Given the description of an element on the screen output the (x, y) to click on. 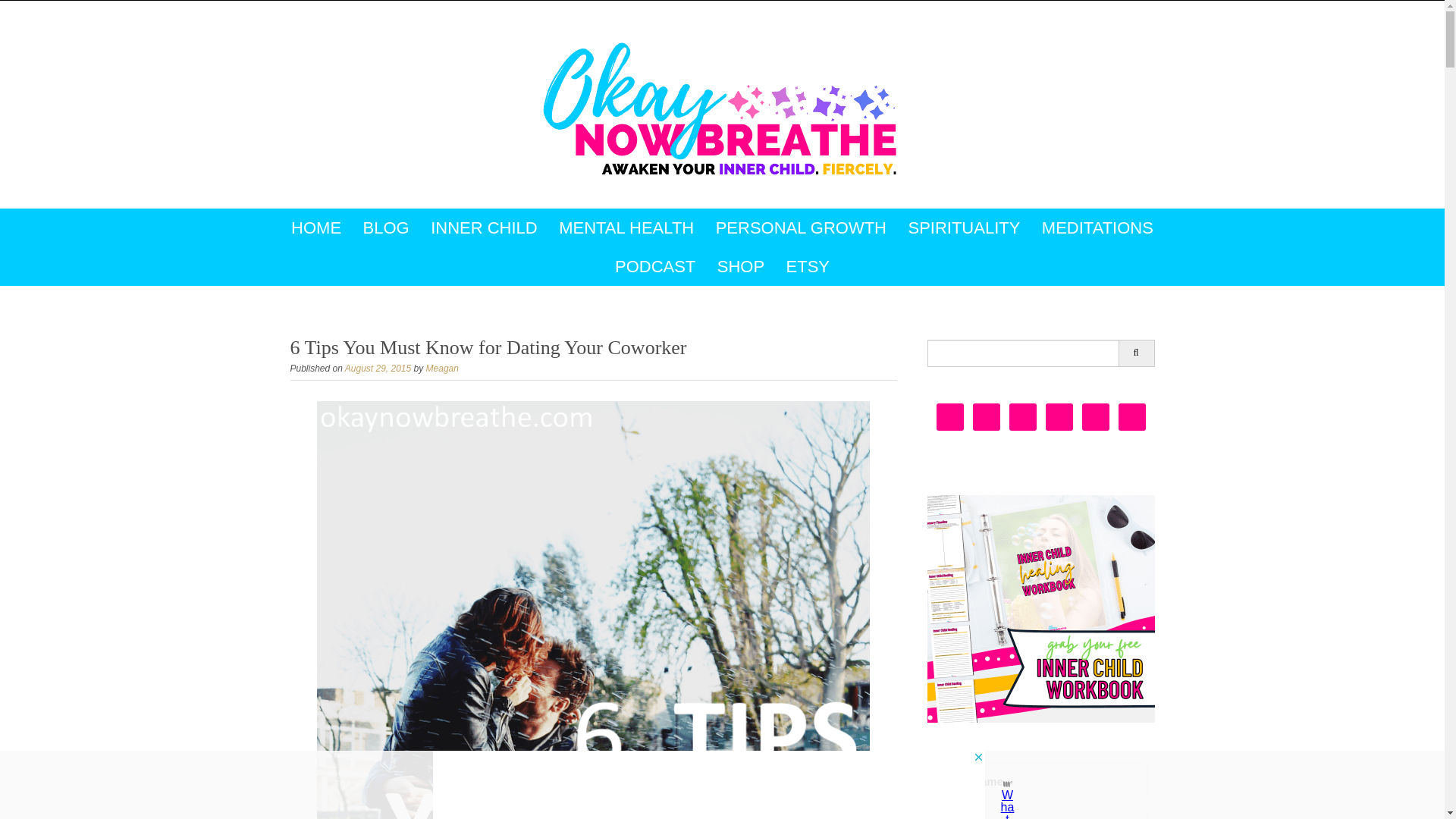
ETSY (807, 266)
MEDITATIONS (1096, 227)
PODCAST (654, 266)
SHOP (740, 266)
SPIRITUALITY (963, 227)
August 29, 2015 (377, 368)
HOME (316, 227)
INNER CHILD (484, 227)
3rd party ad content (708, 785)
PERSONAL GROWTH (800, 227)
Meagan (442, 368)
MENTAL HEALTH (626, 227)
BLOG (386, 227)
Okay Now Breathe Awaken Your Inner Child. Fiercely. (721, 107)
